Given the description of an element on the screen output the (x, y) to click on. 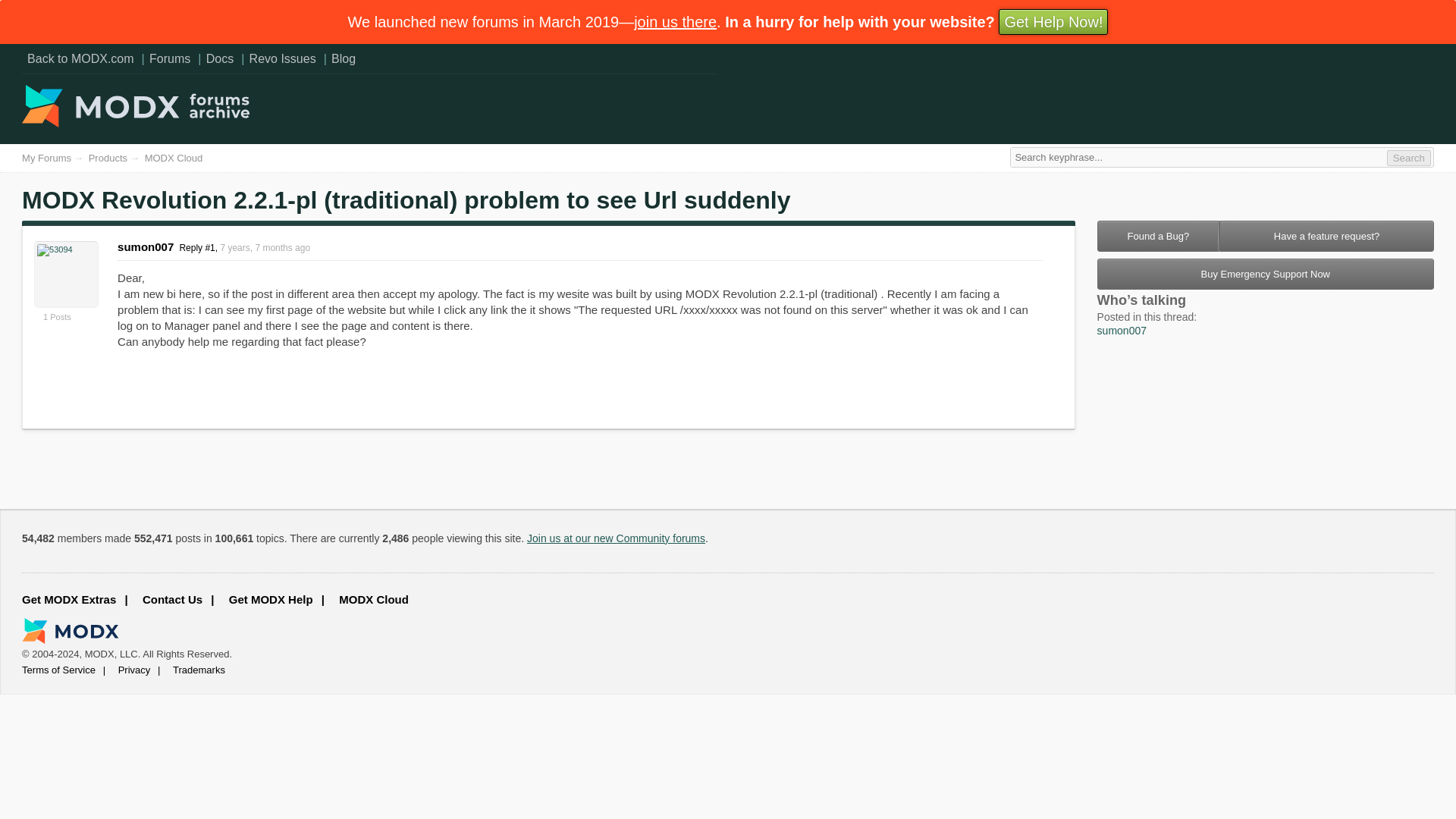
Docs (220, 58)
Found a Bug? (1158, 235)
MODX Community Forums Archive (134, 123)
Products (108, 157)
Search (1409, 157)
Get Help Now! (1053, 22)
Have a feature request? (1327, 235)
MODX Cloud (375, 599)
Contact Us (174, 599)
Buy Emergency Support Now (1265, 273)
Get MODX Extras (76, 599)
My Forums (46, 157)
MODX Cloud (173, 157)
Forums (170, 58)
My Forums (46, 157)
